Given the description of an element on the screen output the (x, y) to click on. 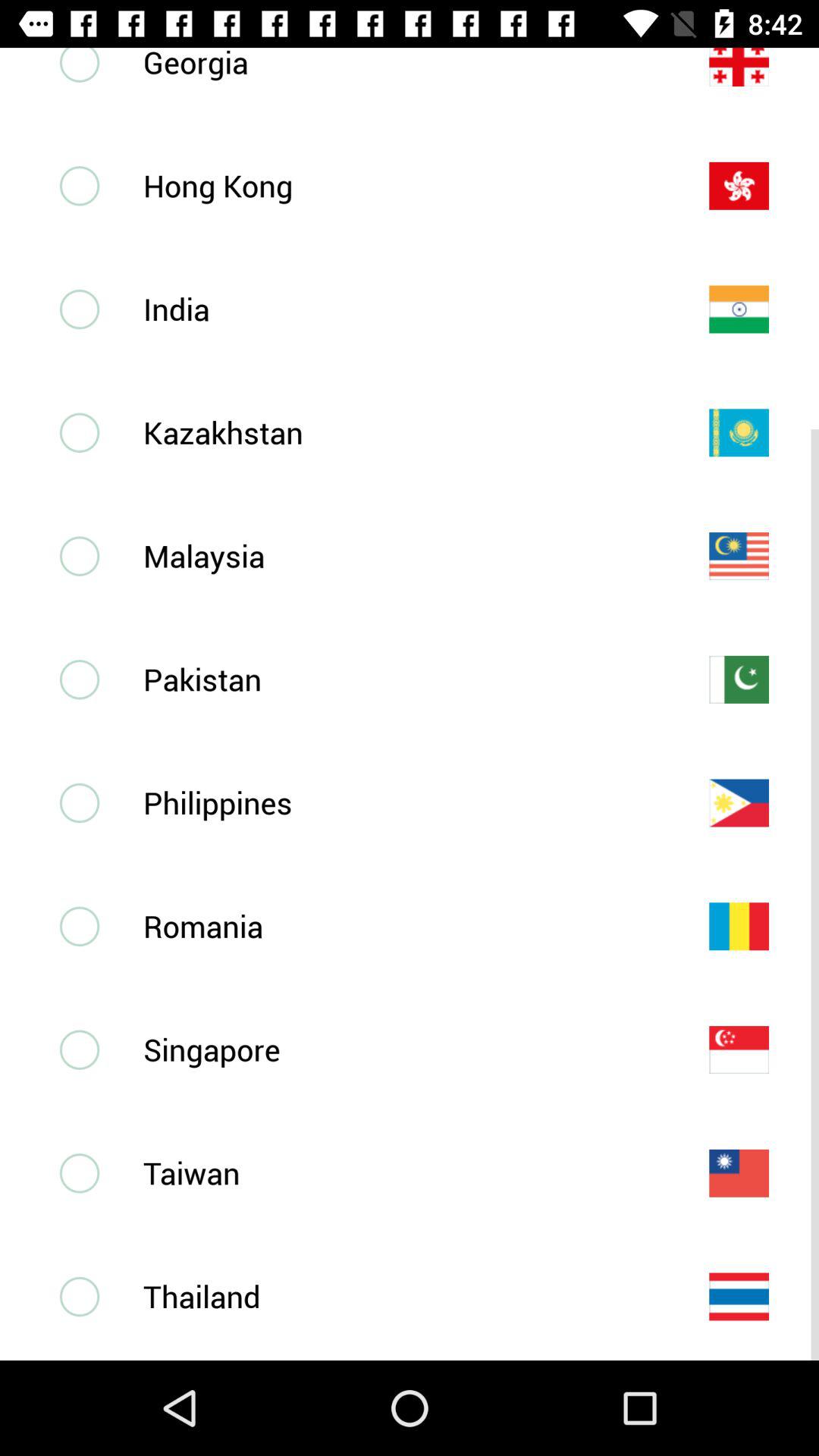
launch georgia (401, 64)
